Given the description of an element on the screen output the (x, y) to click on. 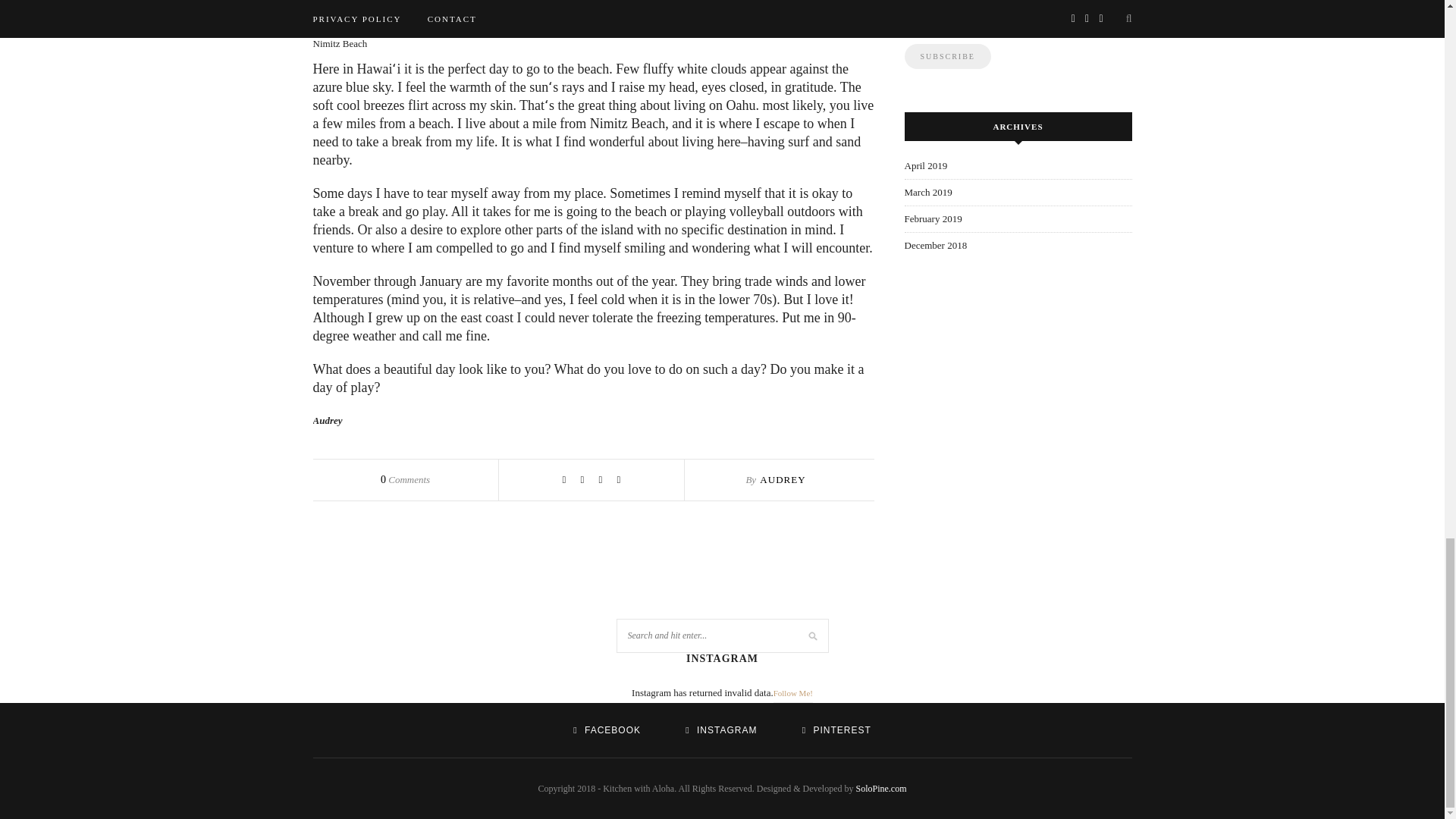
PINTEREST (836, 729)
December 2018 (935, 244)
FACEBOOK (606, 729)
March 2019 (928, 192)
Posts by Audrey (782, 479)
Follow Me! (792, 692)
February 2019 (932, 218)
INSTAGRAM (721, 729)
Subscribe (947, 56)
April 2019 (925, 165)
0 Comments (404, 479)
Subscribe (947, 56)
SoloPine.com (880, 787)
AUDREY (782, 479)
